Given the description of an element on the screen output the (x, y) to click on. 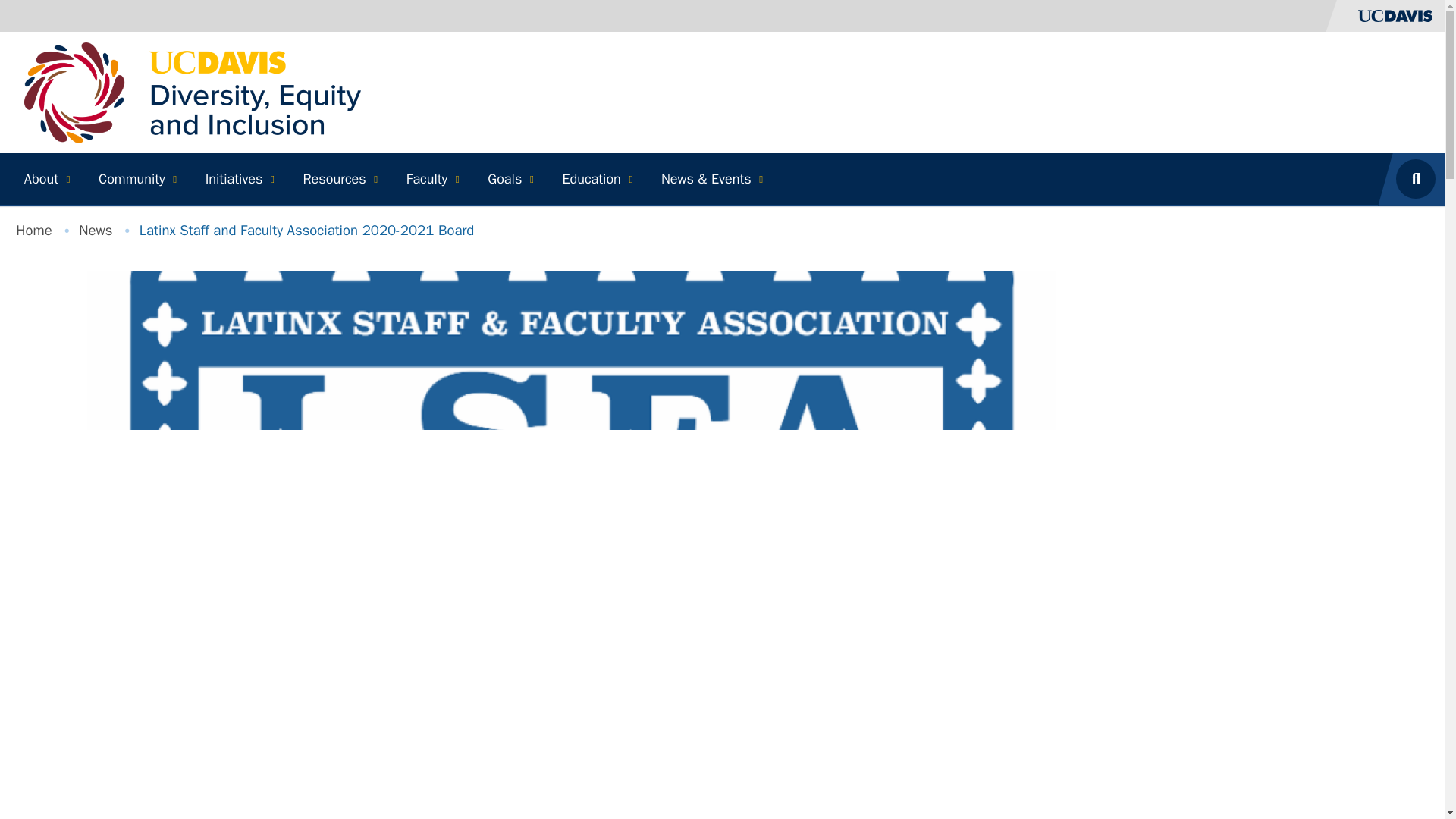
Initiatives (237, 179)
Community (135, 179)
Open Search (1419, 179)
About (45, 179)
Home (192, 91)
